Given the description of an element on the screen output the (x, y) to click on. 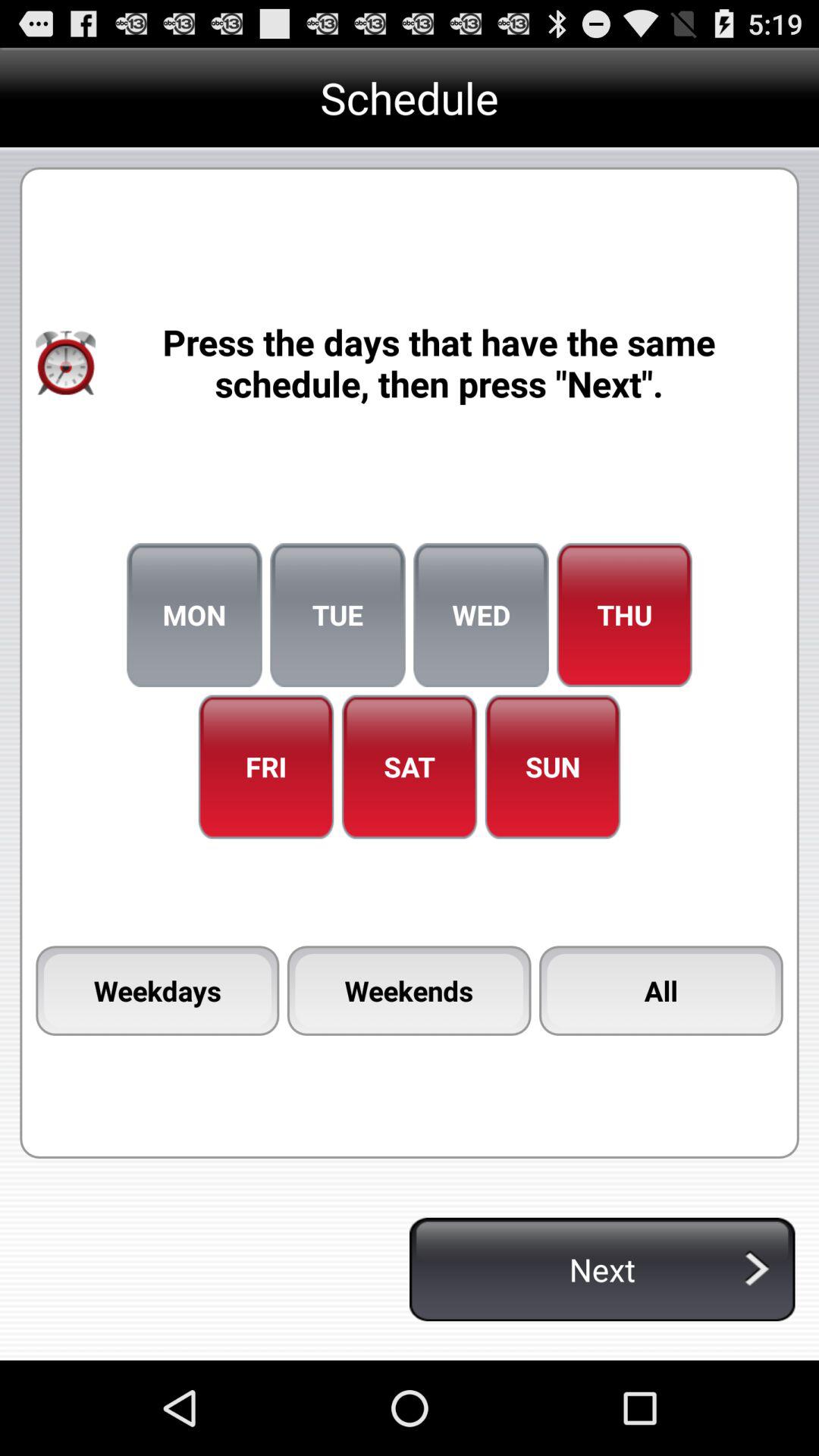
press the tue (337, 615)
